Given the description of an element on the screen output the (x, y) to click on. 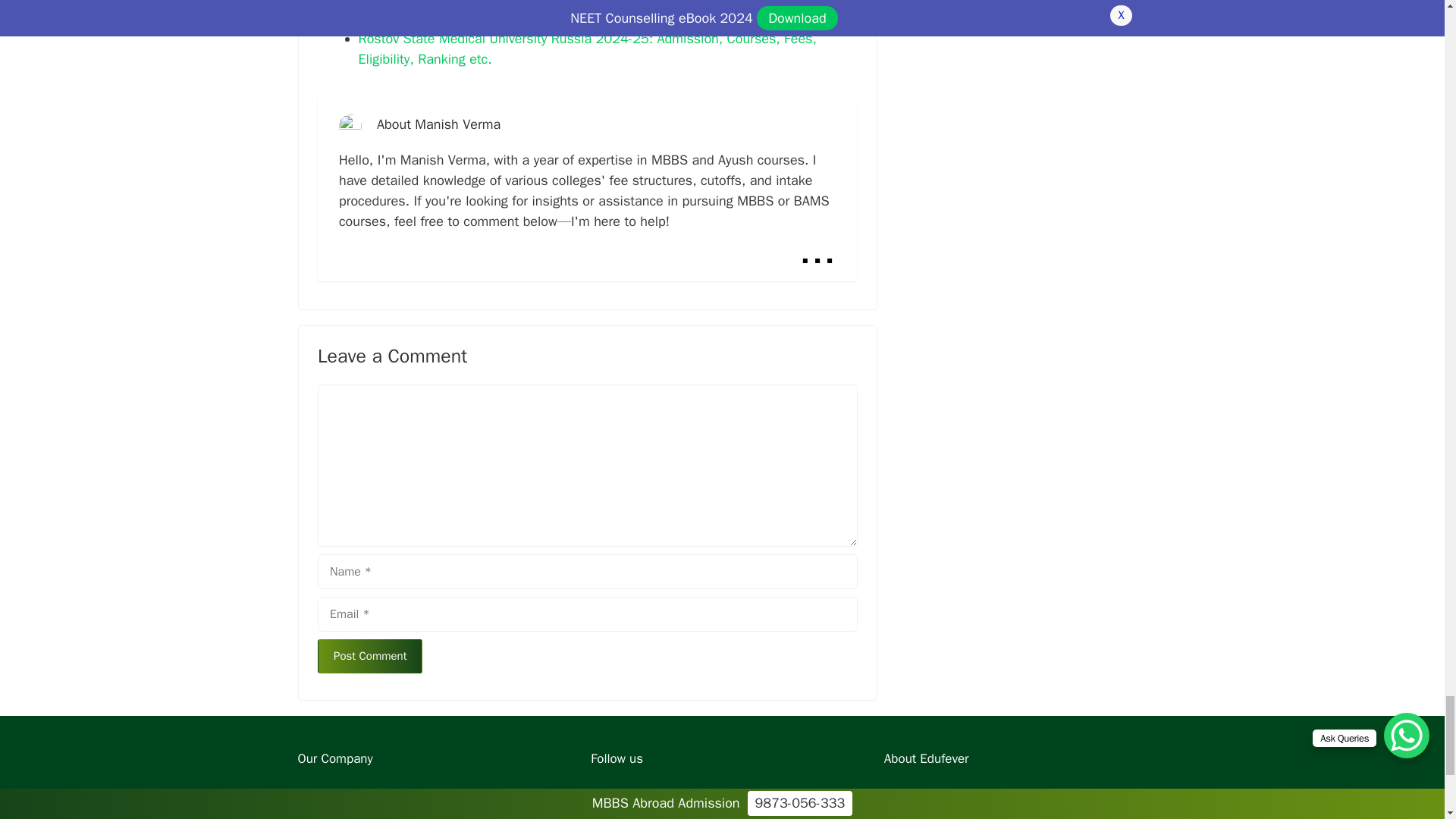
Post Comment (369, 656)
Read more (816, 249)
